Given the description of an element on the screen output the (x, y) to click on. 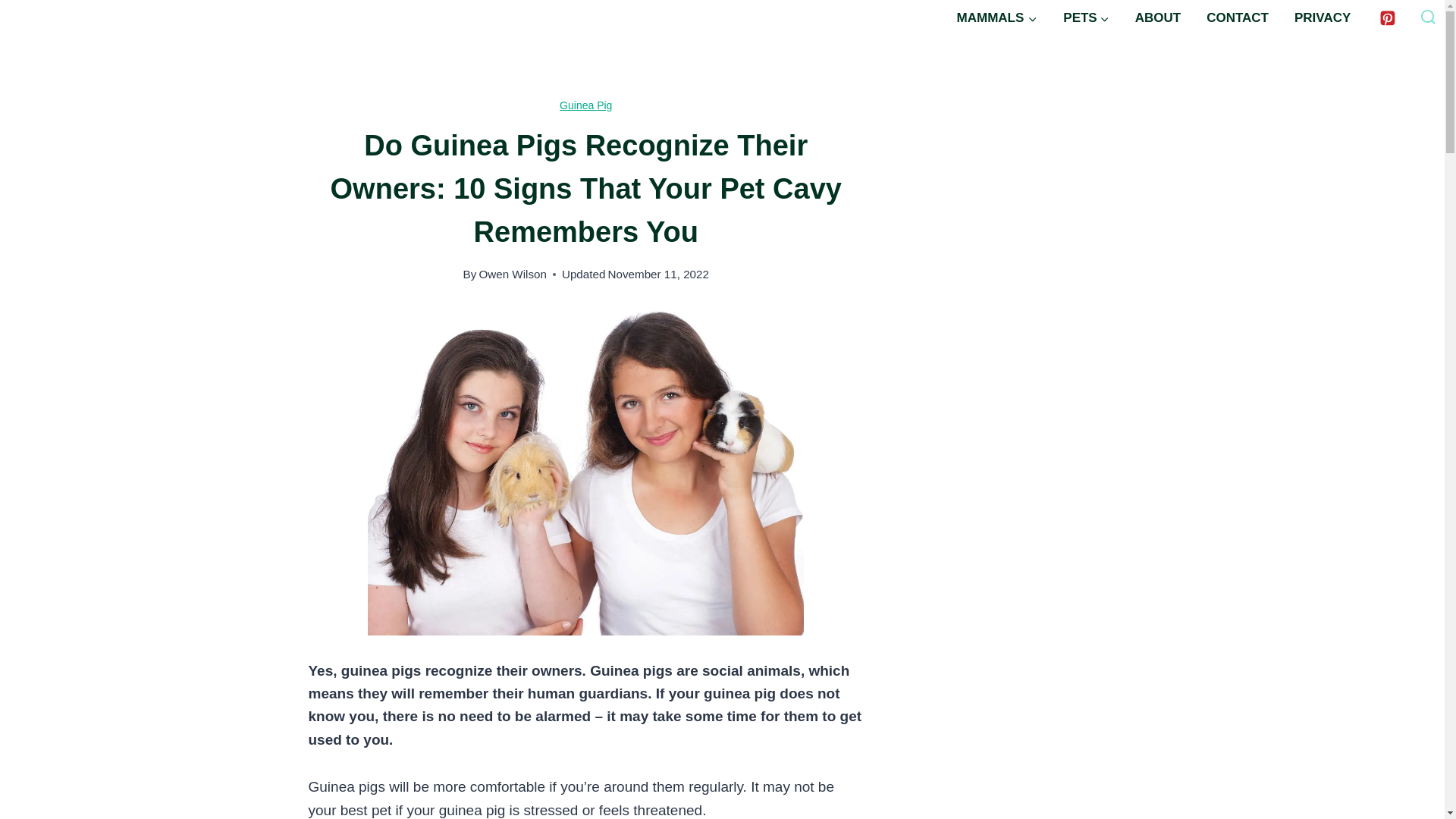
CONTACT (1237, 18)
ABOUT (1157, 18)
MAMMALS (996, 18)
PRIVACY (1321, 18)
PETS (1085, 18)
Owen Wilson (512, 273)
Guinea Pig (585, 105)
